Given the description of an element on the screen output the (x, y) to click on. 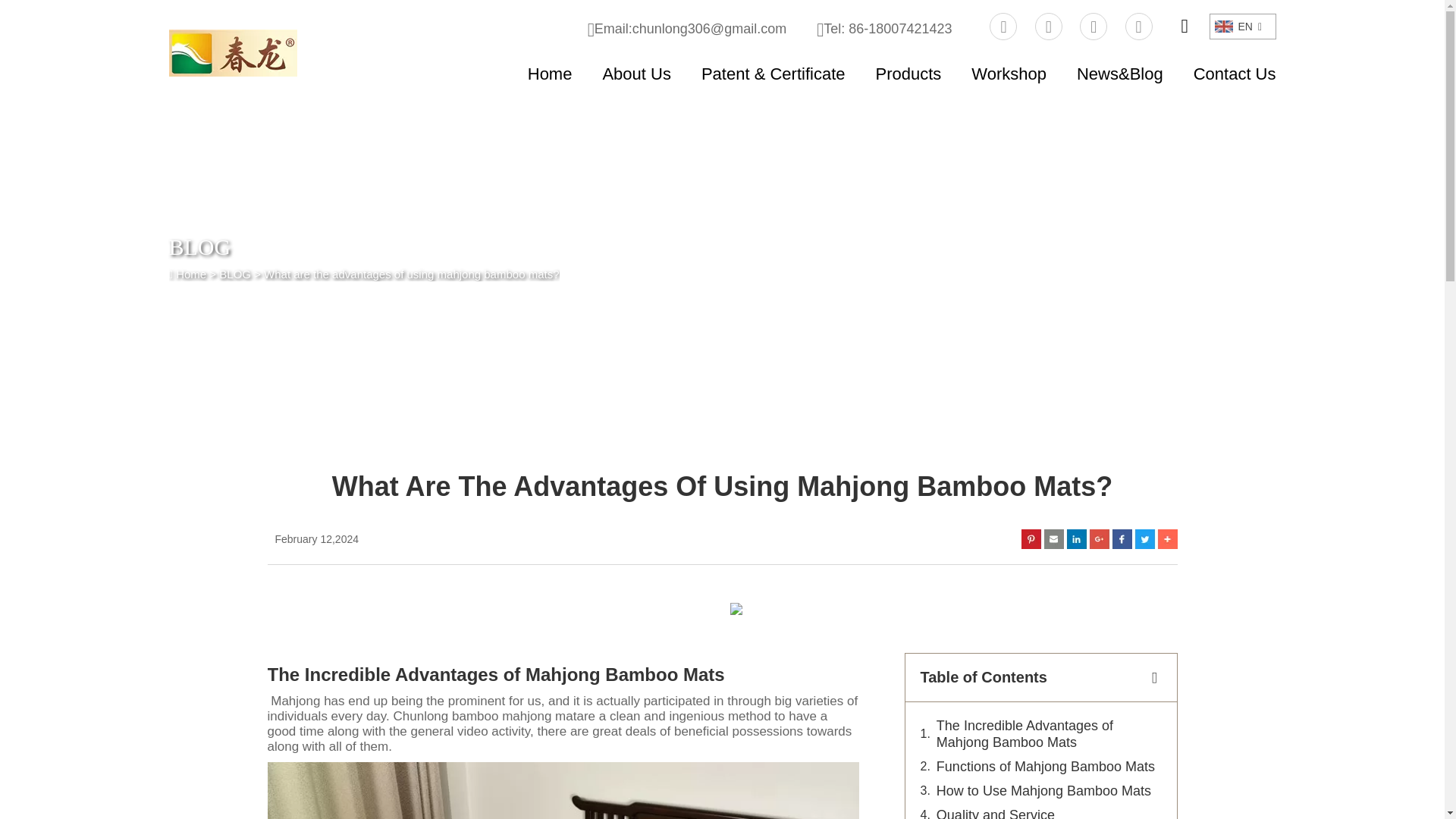
Tel: 86-18007421423 (884, 28)
